Given the description of an element on the screen output the (x, y) to click on. 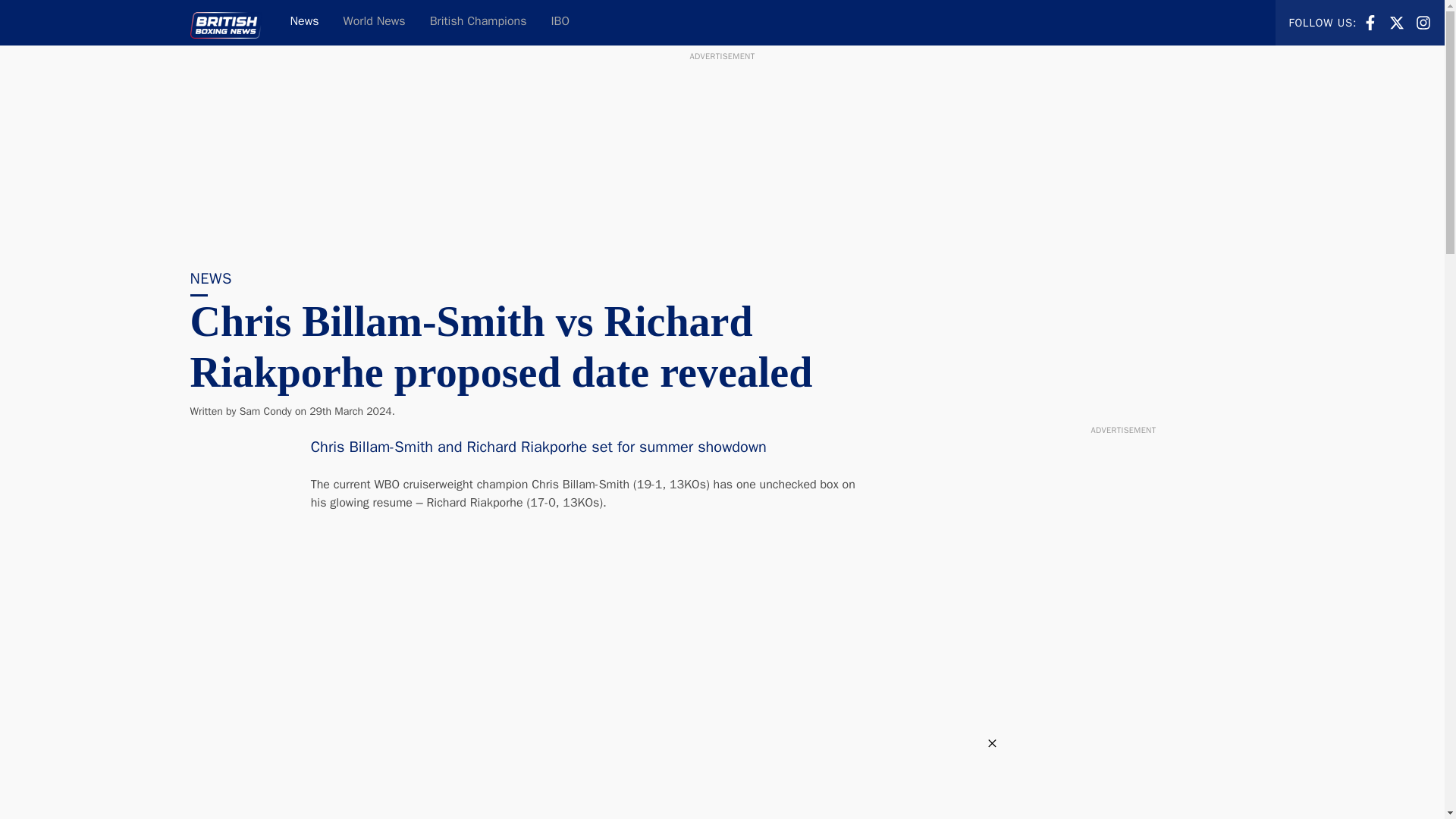
IBO (559, 22)
World News (374, 22)
Sam Condy (1369, 21)
INSTAGRAM (266, 410)
British Champions (1397, 21)
News (1423, 22)
X (477, 22)
